Given the description of an element on the screen output the (x, y) to click on. 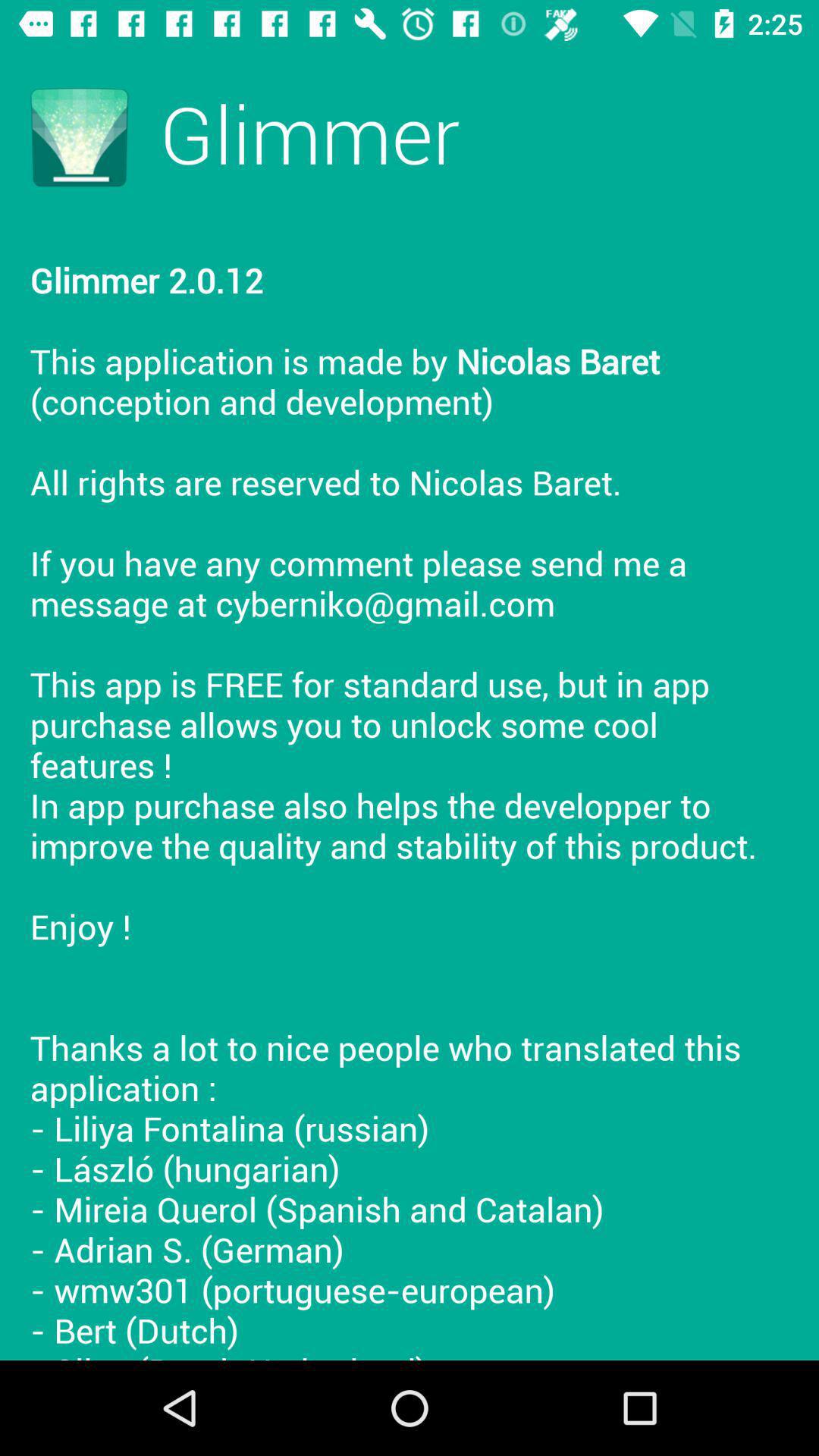
swipe to glimmer 2 0 (409, 793)
